Given the description of an element on the screen output the (x, y) to click on. 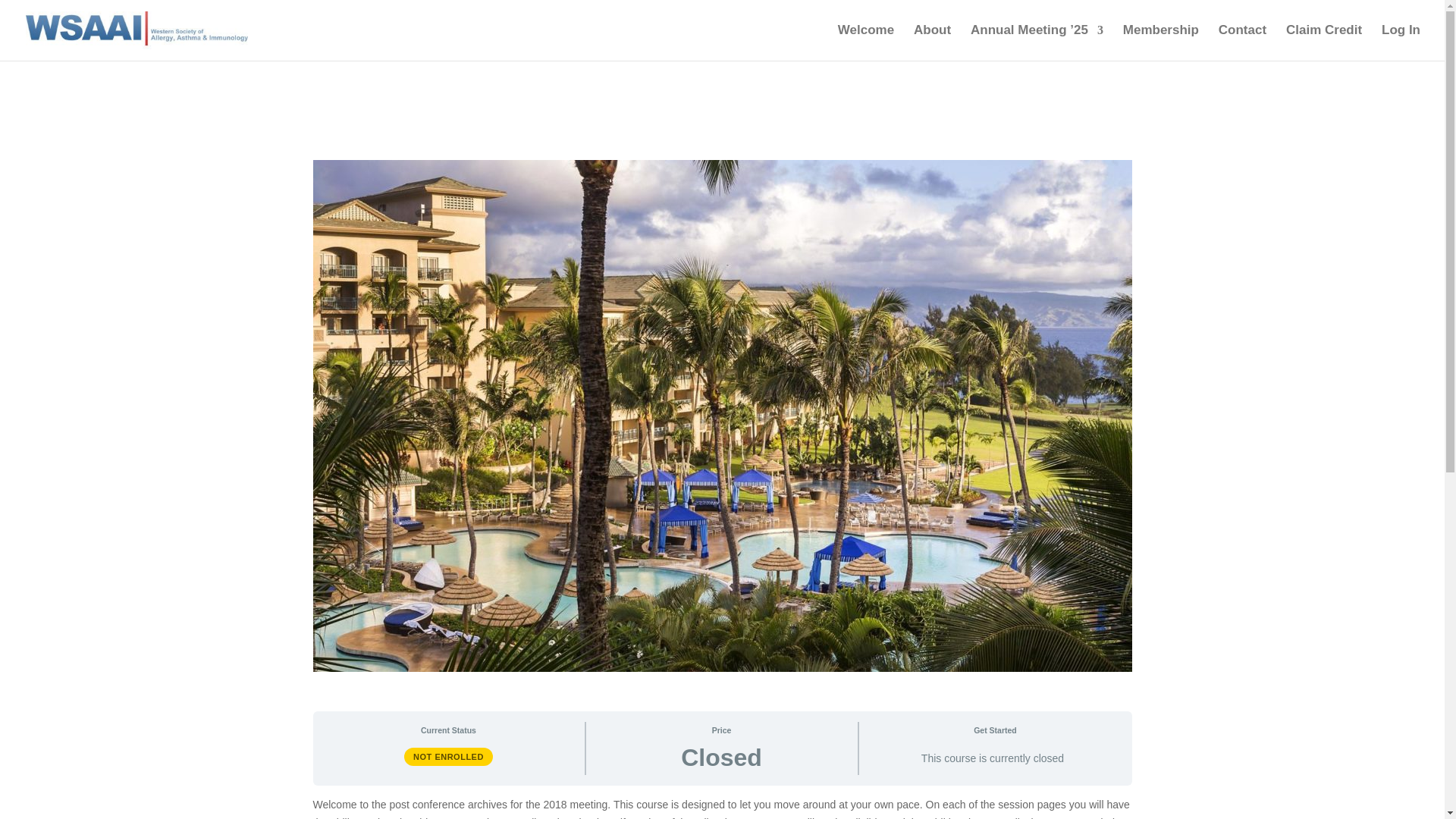
Log In (1401, 42)
Welcome (865, 42)
Membership (1160, 42)
Claim Credit (1323, 42)
Contact (1242, 42)
About (932, 42)
